Given the description of an element on the screen output the (x, y) to click on. 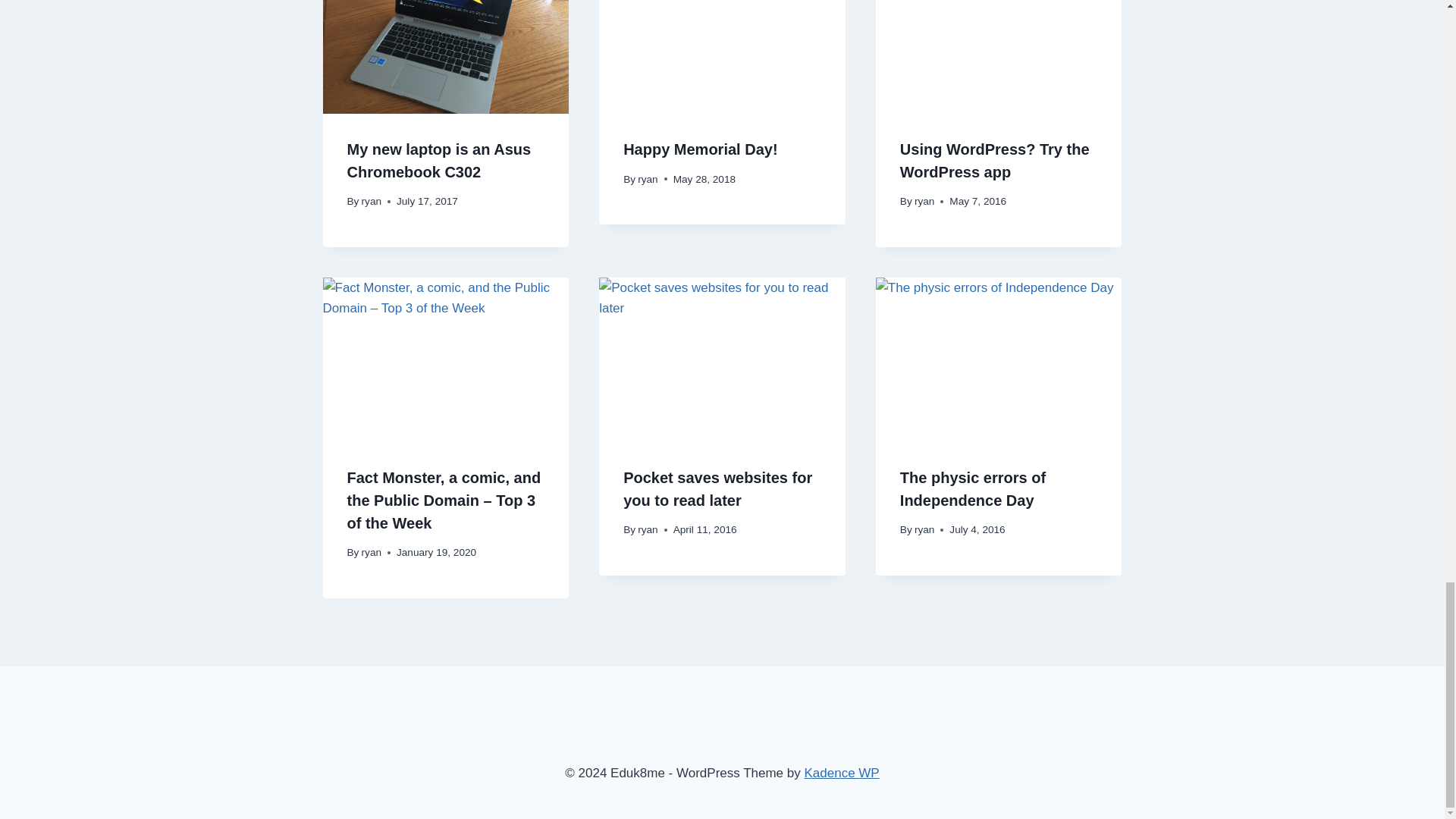
ryan (647, 179)
Happy Memorial Day! (700, 149)
My new laptop is an Asus Chromebook C302 (439, 160)
ryan (371, 201)
